Given the description of an element on the screen output the (x, y) to click on. 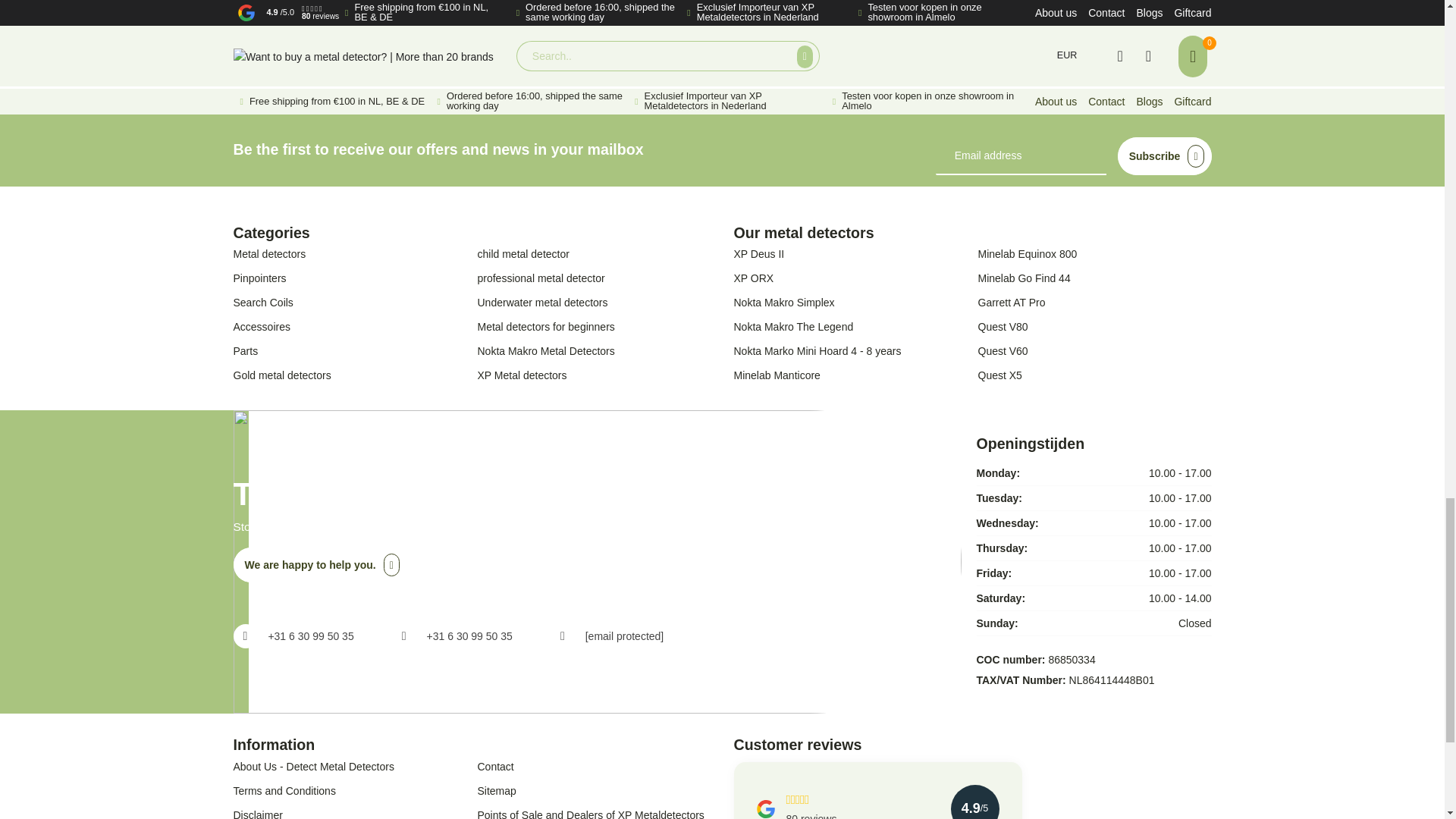
Contact (1105, 101)
Parts (349, 351)
Accessoires (349, 326)
Gold metal detectors (349, 375)
Giftcard (1192, 101)
About us (1056, 101)
child metal detector (594, 253)
Pinpointers (349, 278)
Blogs (1148, 101)
Metal detectors (349, 253)
